Given the description of an element on the screen output the (x, y) to click on. 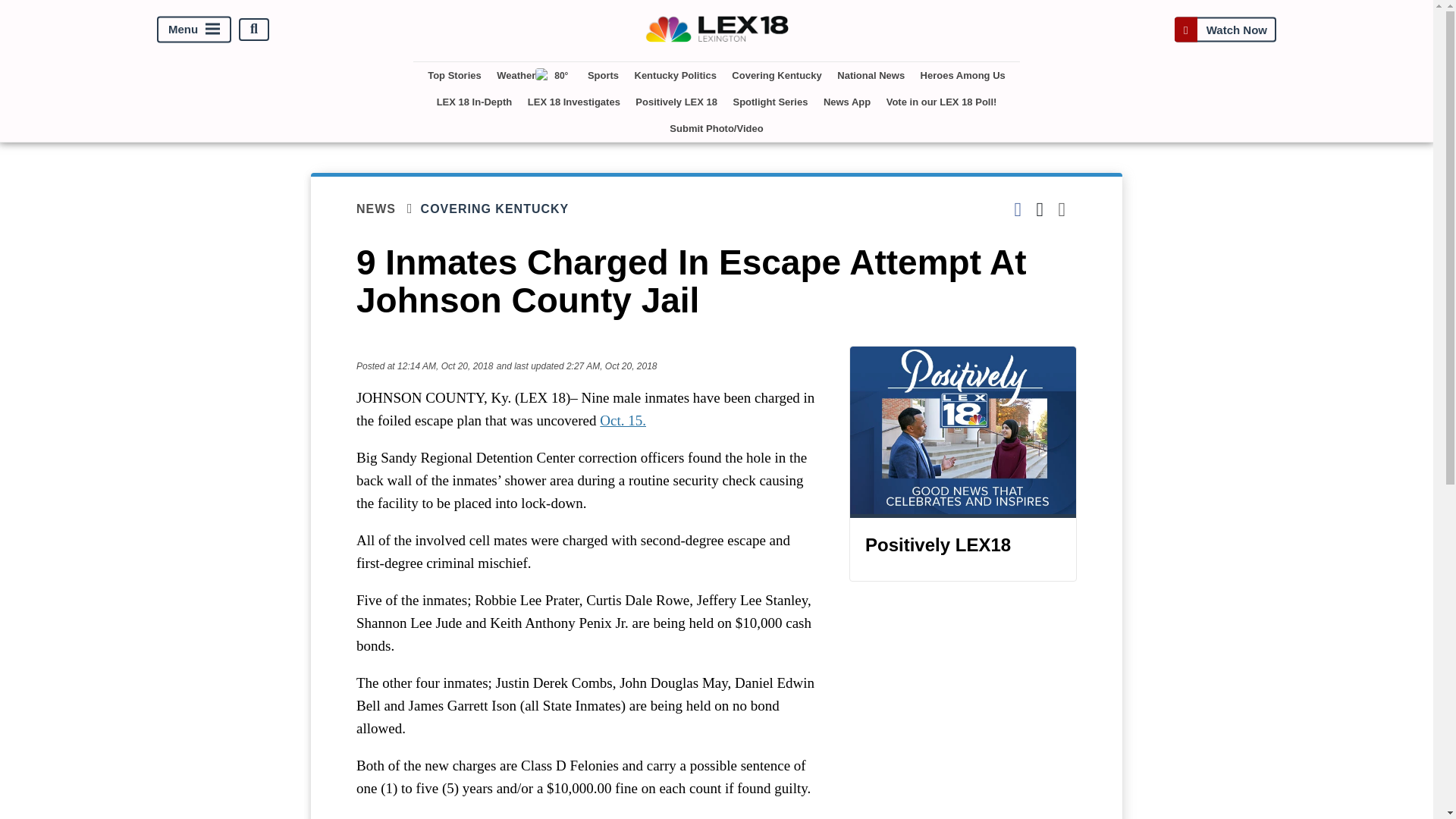
Menu (194, 28)
Watch Now (1224, 29)
